Given the description of an element on the screen output the (x, y) to click on. 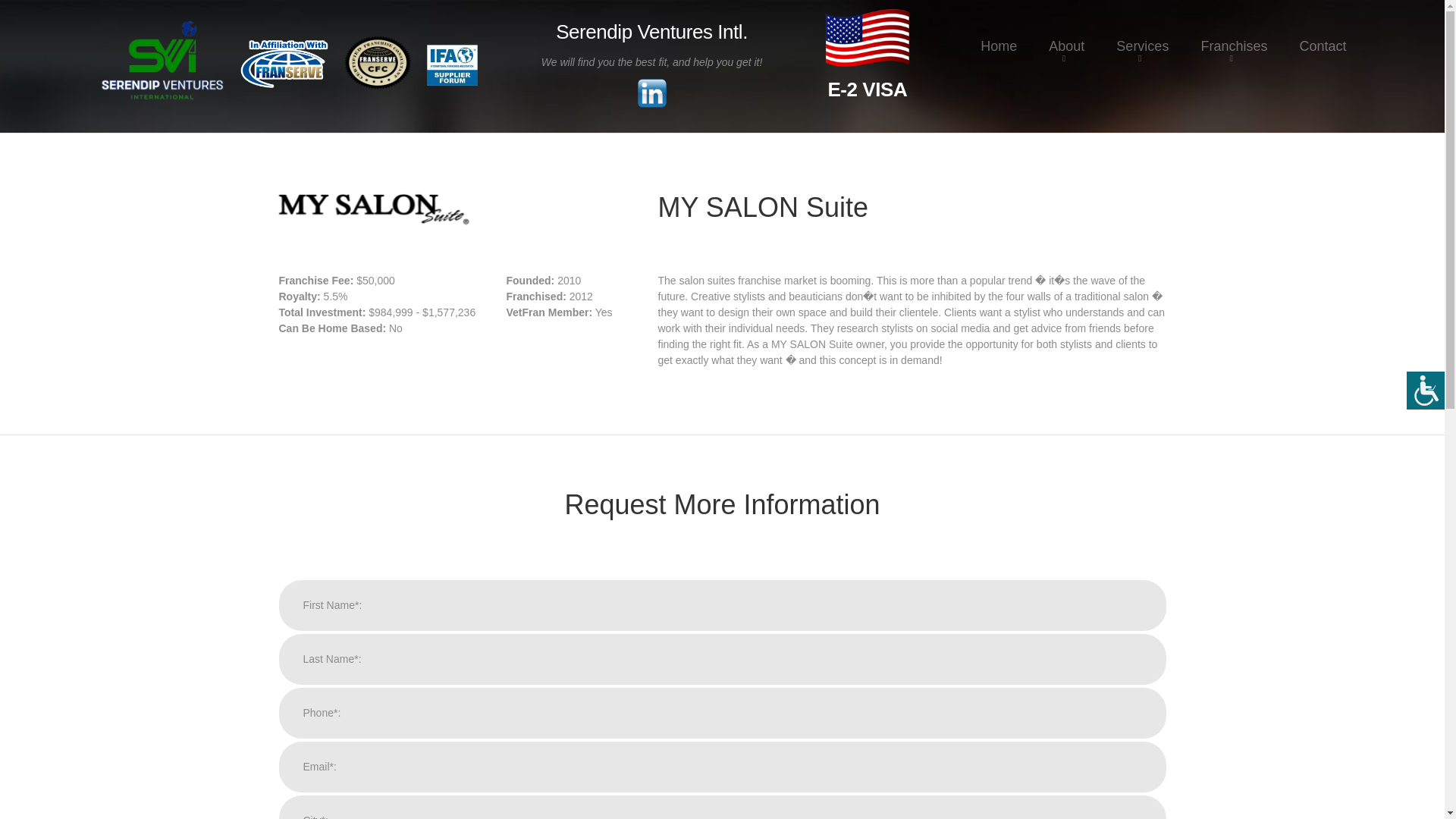
Services (1142, 36)
Home (997, 36)
About (1066, 36)
E-2 VISA (866, 53)
Franchises (1233, 36)
Contact (1321, 36)
